Given the description of an element on the screen output the (x, y) to click on. 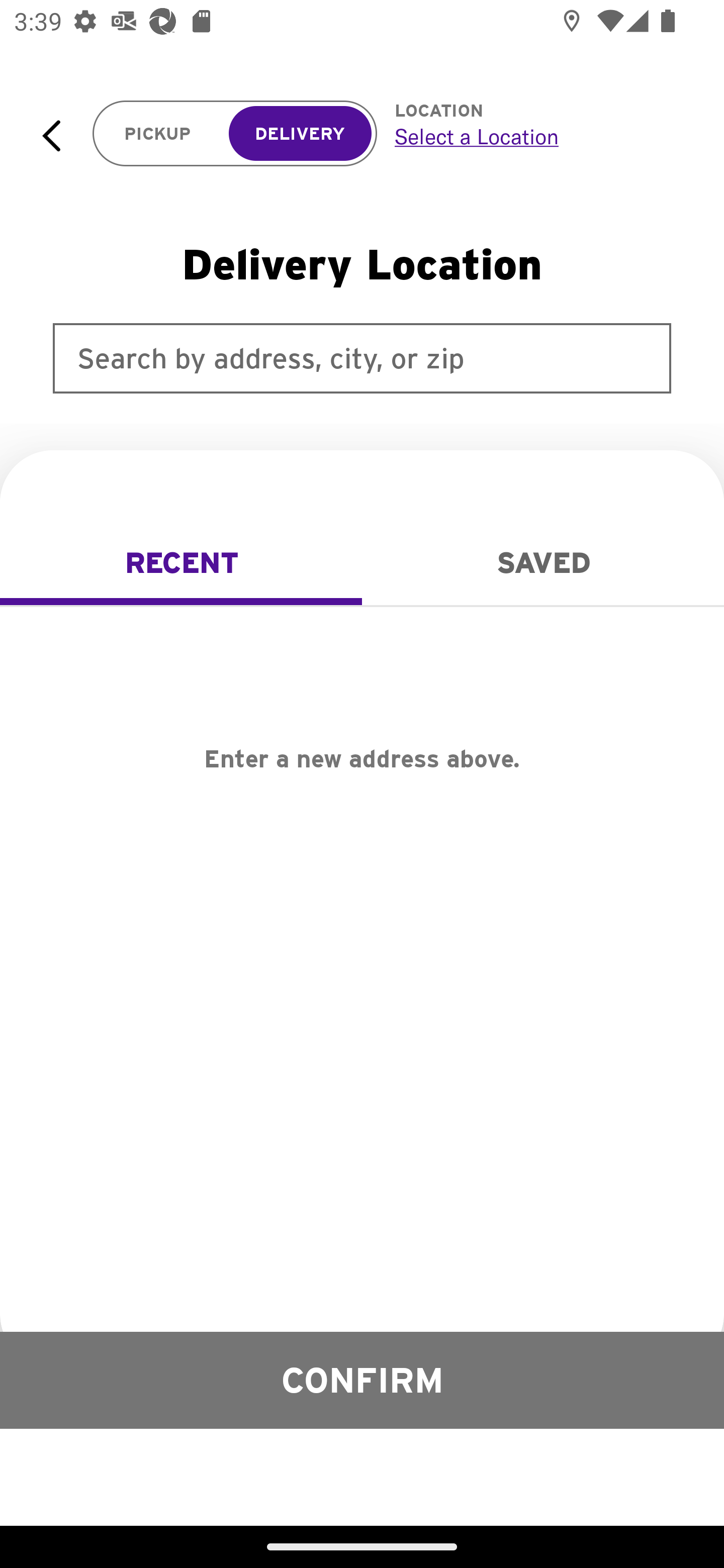
PICKUP (157, 133)
DELIVERY (299, 133)
Select a Location (536, 136)
Search by address, city, or zip (361, 358)
Saved SAVED (543, 562)
CONFIRM (362, 1379)
